Given the description of an element on the screen output the (x, y) to click on. 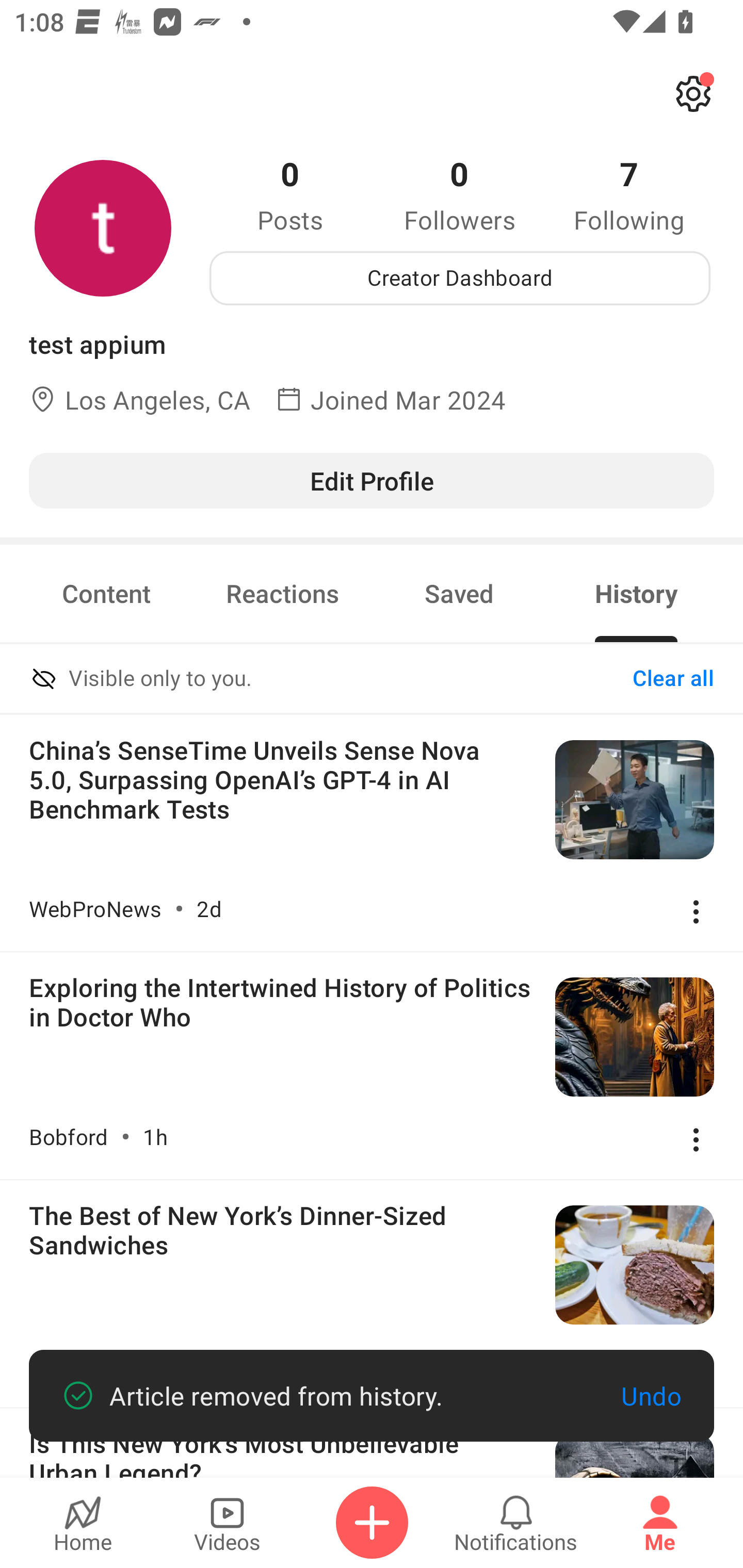
0 Followers (459, 194)
7 Following (629, 194)
Creator Dashboard (459, 277)
Edit Profile (371, 480)
Content (105, 593)
Reactions (282, 593)
Saved (459, 593)
Visible only to you. Clear all (371, 679)
Clear all (673, 678)
Undo (651, 1395)
Home (83, 1522)
Videos (227, 1522)
Notifications (516, 1522)
